Given the description of an element on the screen output the (x, y) to click on. 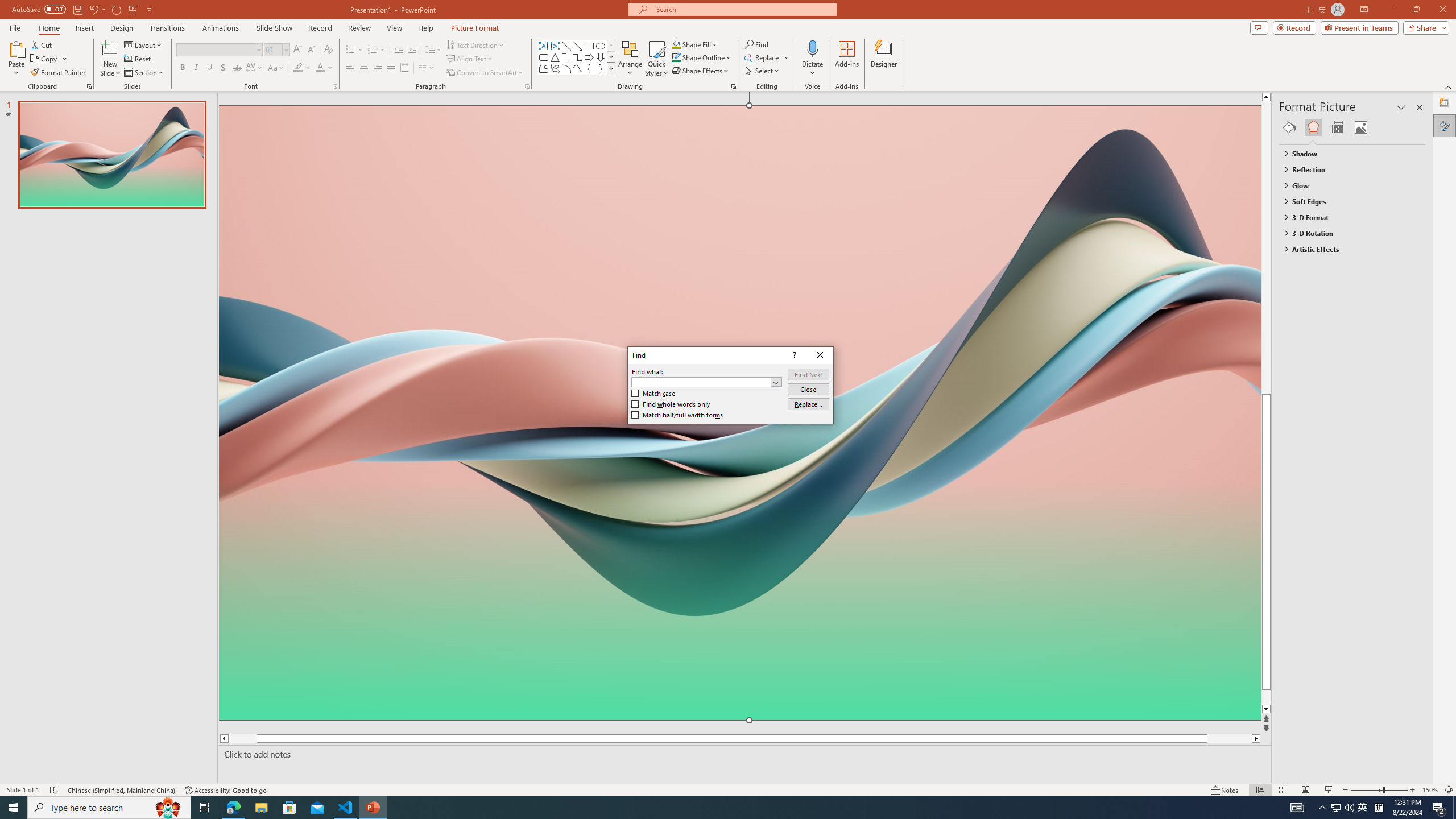
Distributed (404, 67)
Arrow: Right (589, 57)
Shapes (611, 68)
Designer (1444, 102)
Reset (138, 58)
Line (566, 45)
Picture (1361, 126)
Size & Properties (1336, 126)
Arrange (630, 58)
Soft Edges (1347, 201)
Line up (1287, 96)
